Given the description of an element on the screen output the (x, y) to click on. 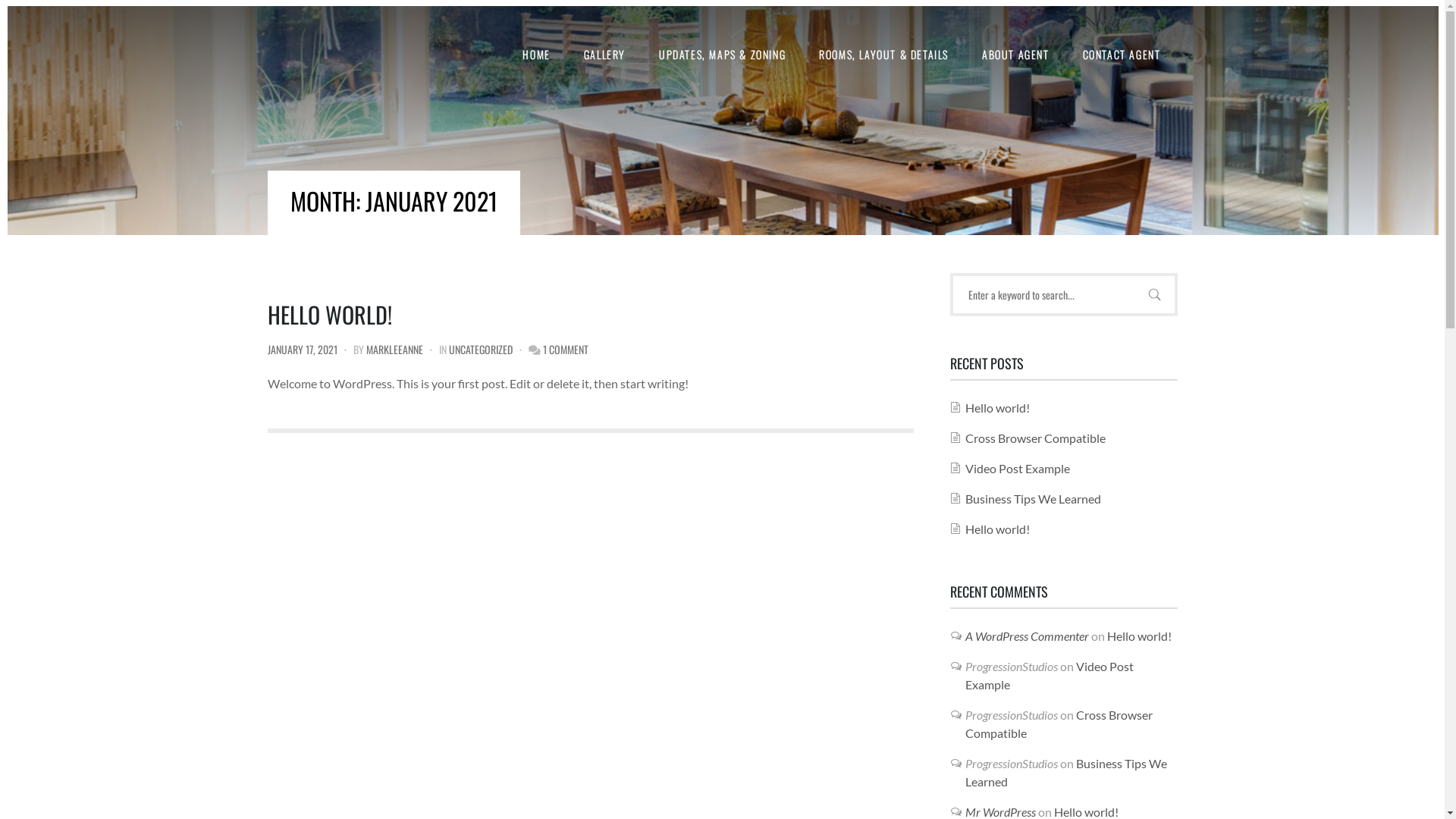
Hello world! Element type: text (1139, 635)
UNCATEGORIZED Element type: text (480, 349)
UPDATES, MAPS & ZONING Element type: text (722, 54)
Business Tips We Learned Element type: text (1065, 772)
Video Post Example Element type: text (1048, 674)
ABOUT AGENT Element type: text (1015, 54)
Submit Element type: text (29, 21)
Hello world! Element type: text (996, 407)
CONTACT AGENT Element type: text (1121, 54)
GALLERY Element type: text (604, 54)
A WordPress Commenter Element type: text (1026, 635)
JANUARY 17, 2021 Element type: text (301, 349)
Business Tips We Learned Element type: text (1032, 498)
MARKLEEANNE Element type: text (393, 349)
ROOMS, LAYOUT & DETAILS Element type: text (883, 54)
1 COMMENT Element type: text (565, 349)
Cross Browser Compatible Element type: text (1034, 437)
Cross Browser Compatible Element type: text (1057, 723)
Video Post Example Element type: text (1016, 468)
Hello world! Element type: text (996, 528)
HOME Element type: text (535, 54)
HELLO WORLD! Element type: text (328, 314)
